Given the description of an element on the screen output the (x, y) to click on. 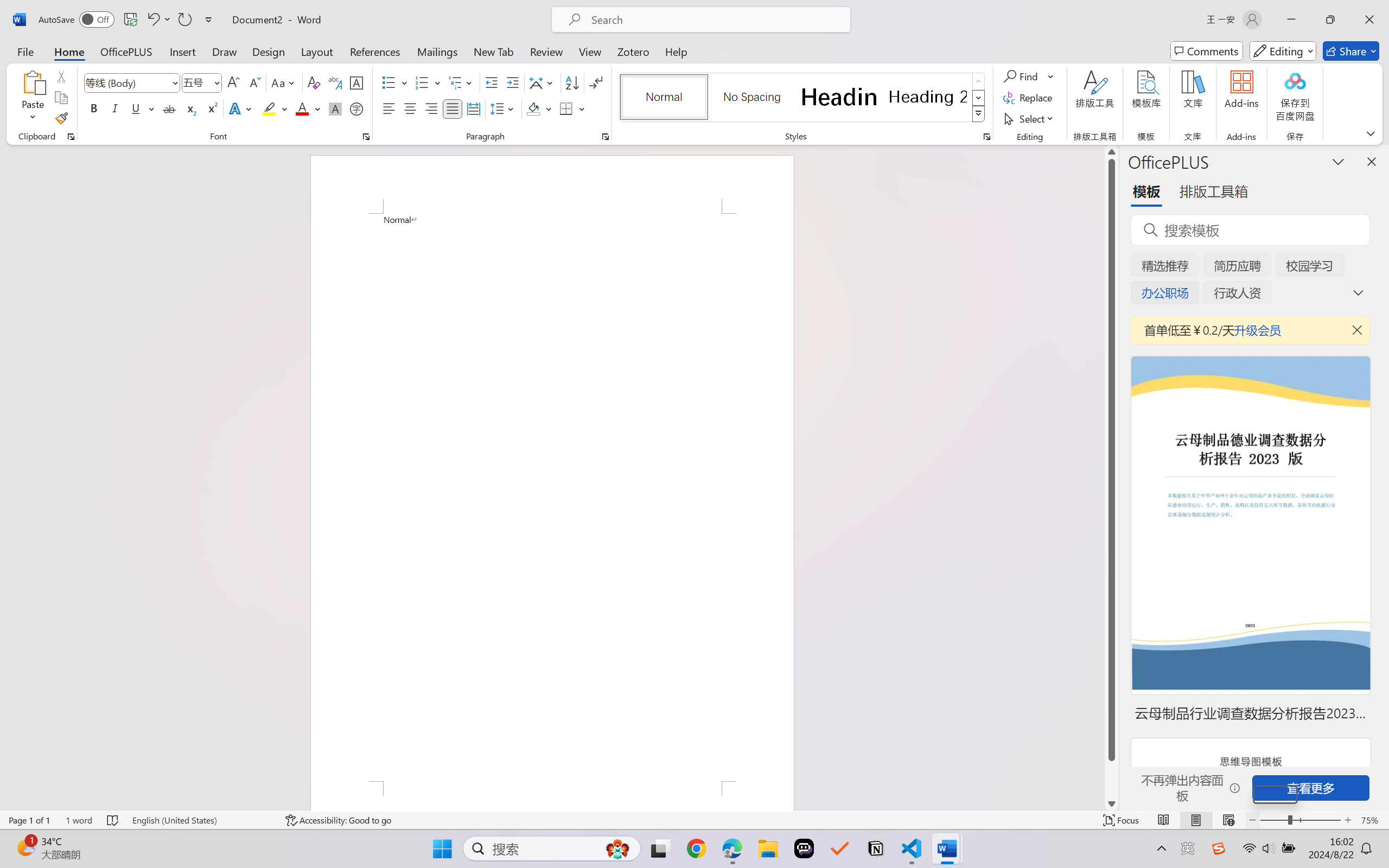
Draw (224, 51)
Font Size (201, 82)
Bullets (388, 82)
File Tab (24, 51)
Page down (1111, 778)
Heading 2 (927, 96)
Close (1369, 19)
Restore Down (1330, 19)
Line down (1111, 803)
Zoom Out (1274, 793)
Align Right (431, 108)
Paragraph... (605, 136)
Shading (539, 108)
